Given the description of an element on the screen output the (x, y) to click on. 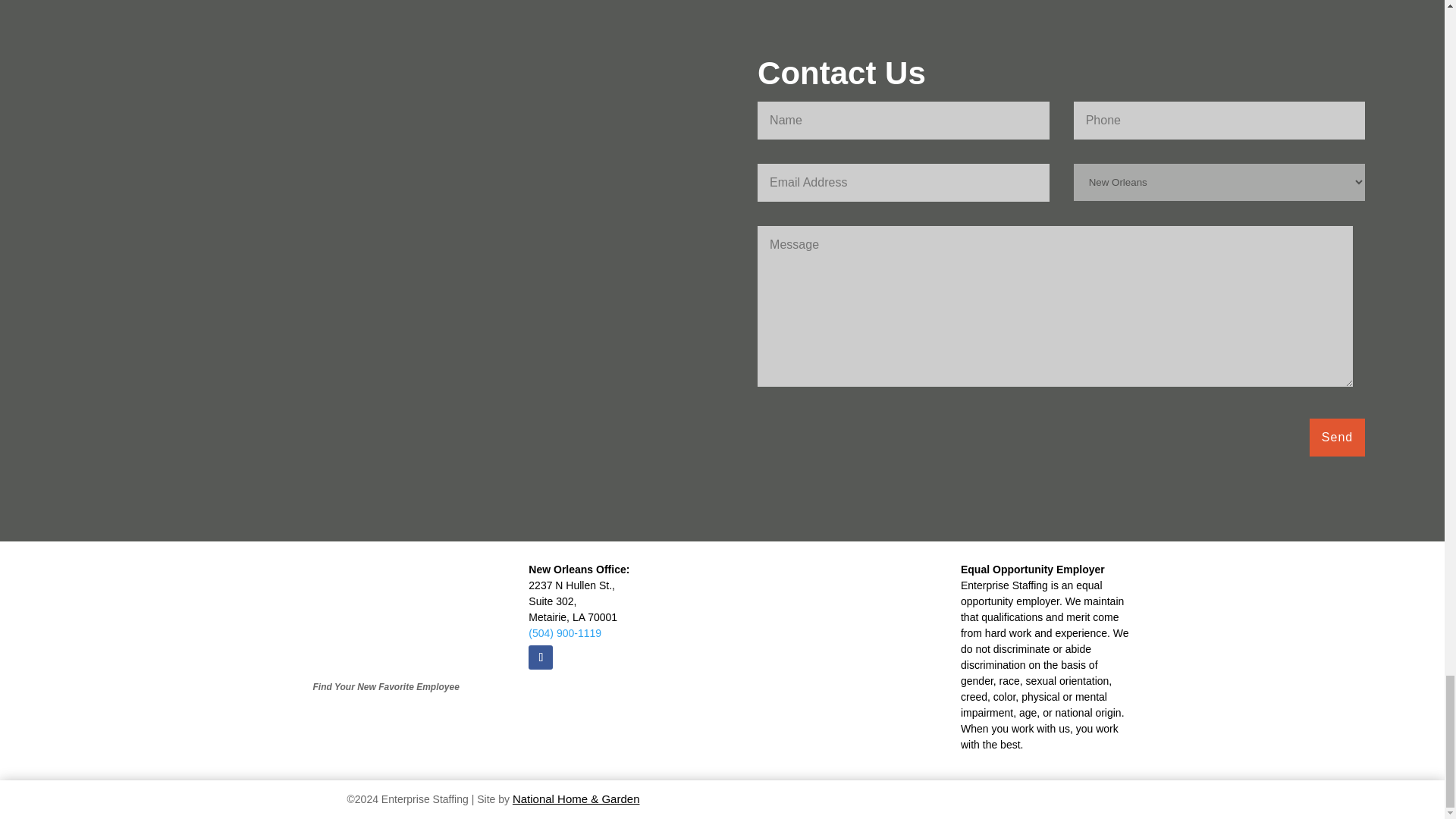
Send (1336, 437)
Follow on Facebook (540, 657)
Send (1336, 437)
